Given the description of an element on the screen output the (x, y) to click on. 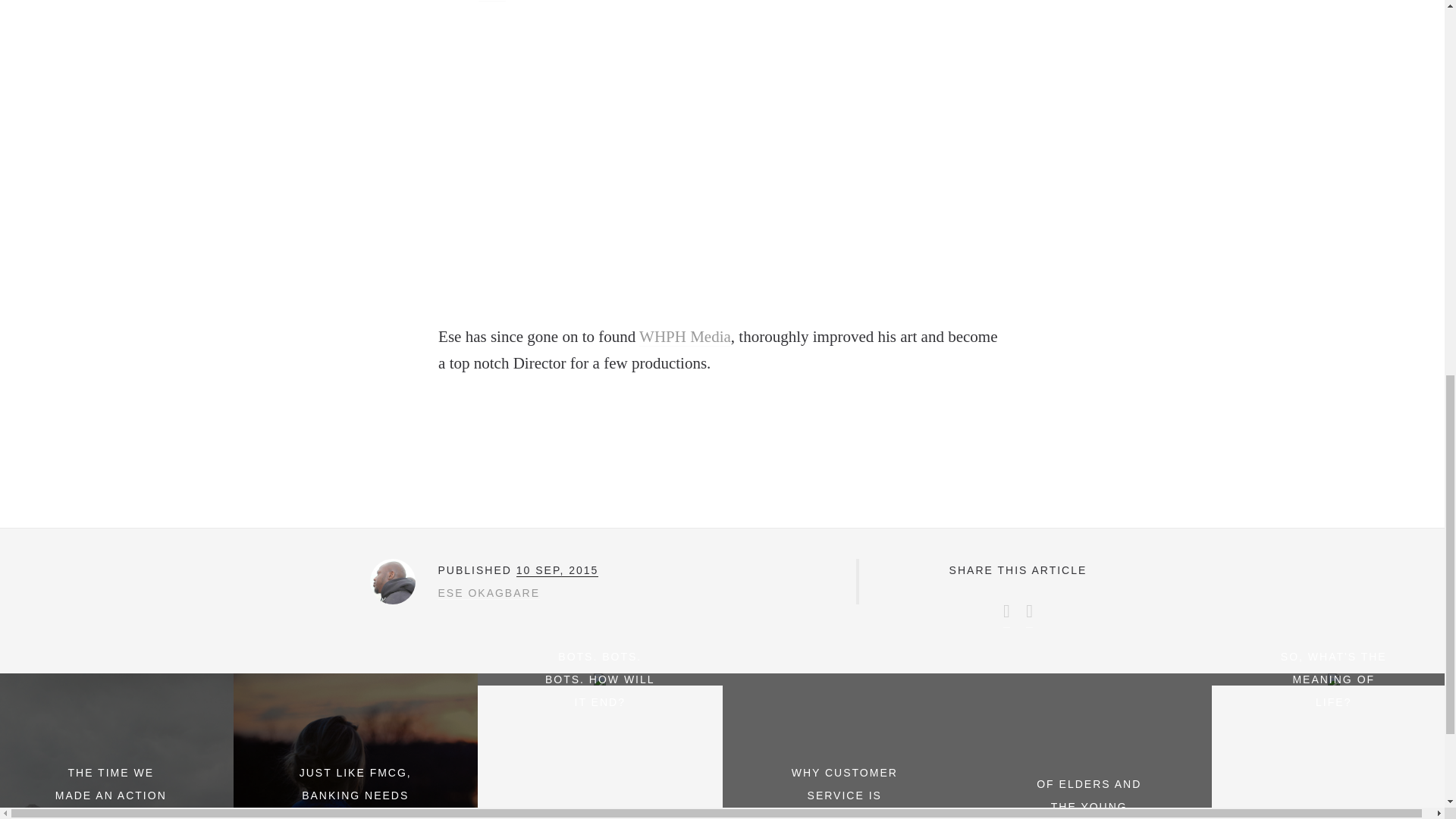
WHPH Media (684, 336)
ESE OKAGBARE (489, 593)
here (492, 0)
